Given the description of an element on the screen output the (x, y) to click on. 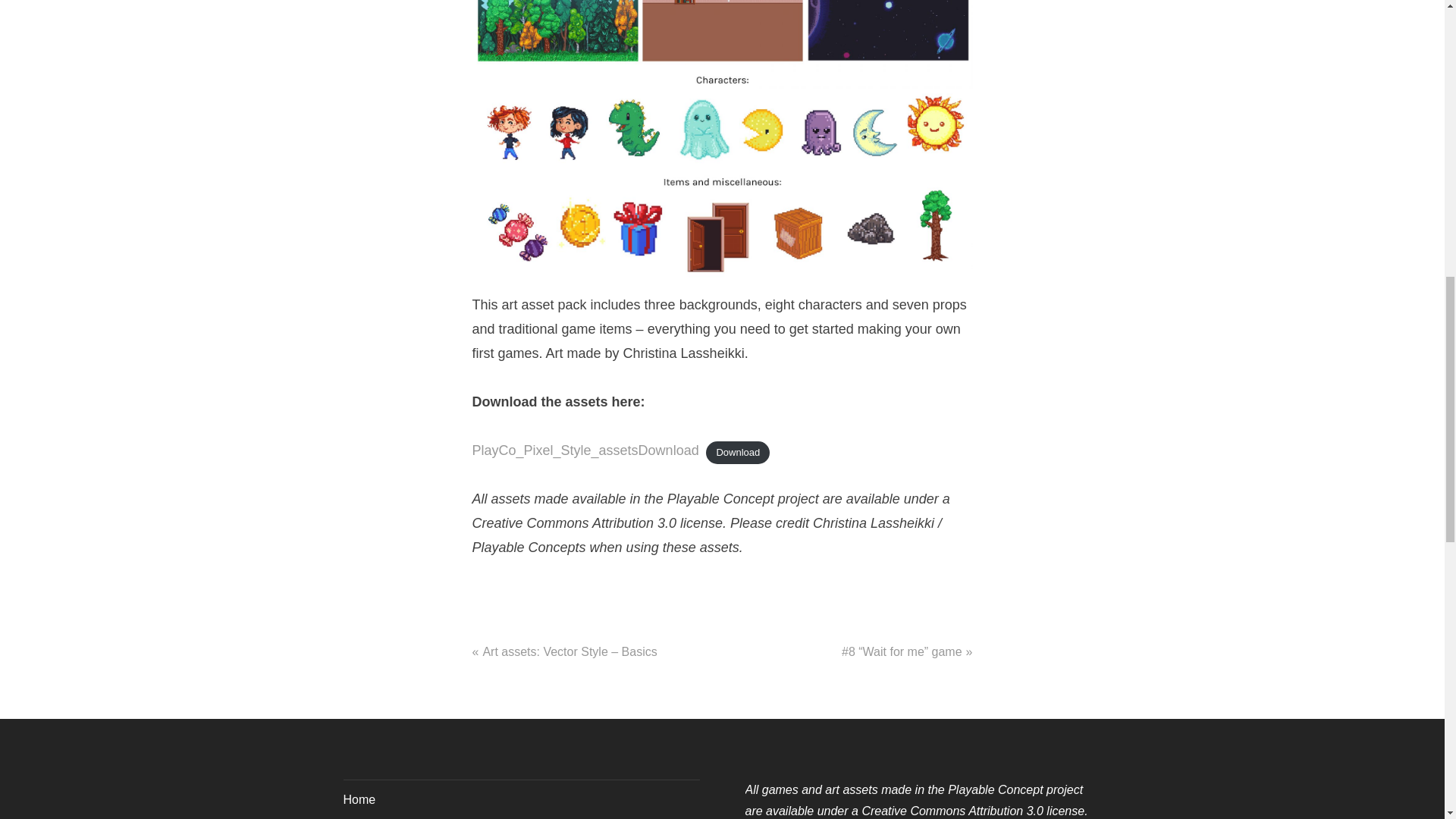
Home (358, 799)
Download (738, 452)
